Given the description of an element on the screen output the (x, y) to click on. 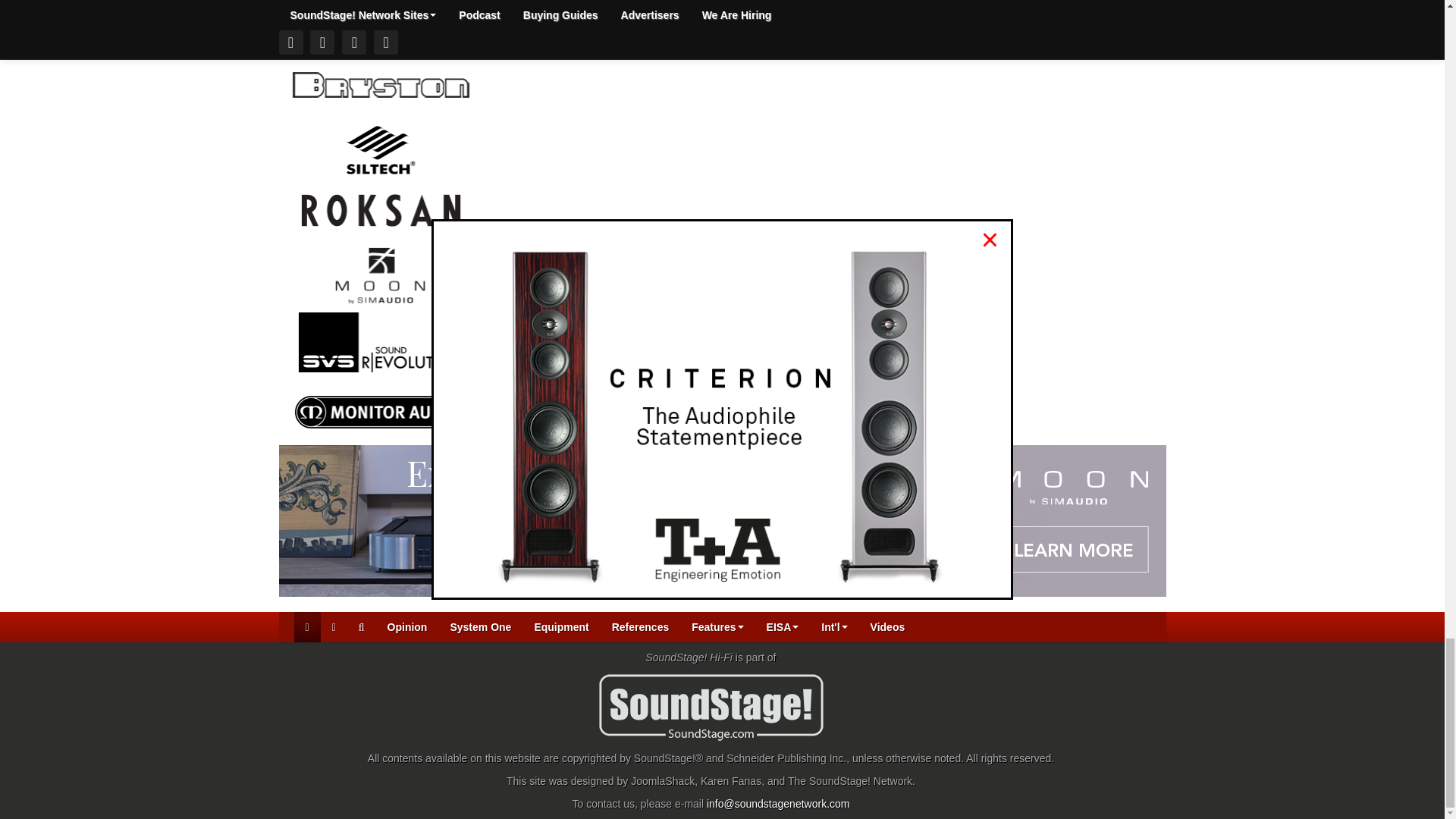
Logo Hegel (381, 15)
Logo Simaudio (381, 273)
Logo Roksan Audio - April 2018 (381, 209)
Logo Bryston (381, 83)
